Given the description of an element on the screen output the (x, y) to click on. 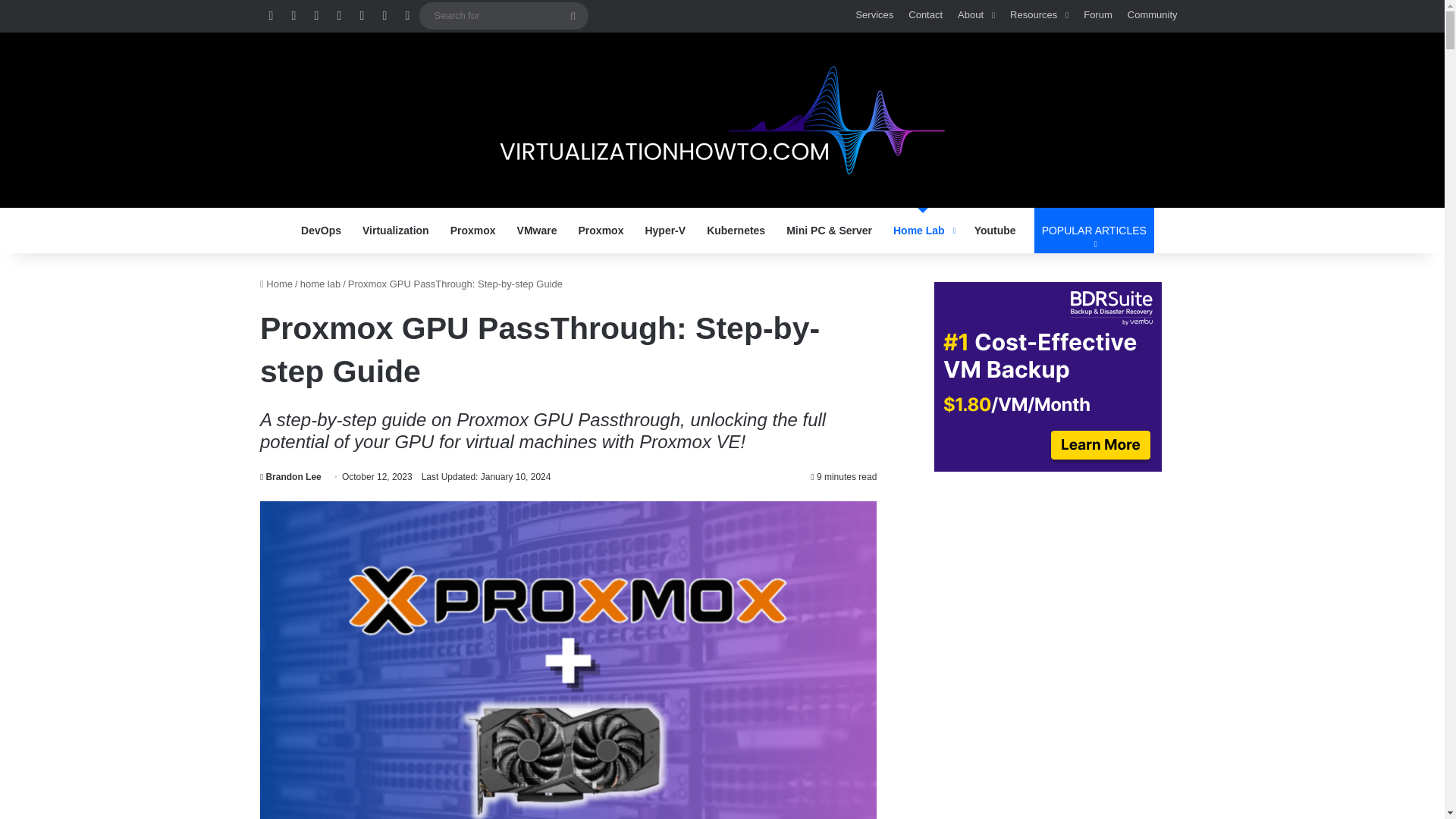
Proxmox (472, 230)
Proxmox (600, 230)
Search for (572, 15)
X (315, 15)
YouTube (361, 15)
Resources (1039, 15)
Brandon Lee (289, 476)
RSS (270, 15)
Home Lab (922, 230)
Contact (925, 15)
Facebook (293, 15)
Hyper-V (664, 230)
Community (1152, 15)
Services (874, 15)
VMware (536, 230)
